Given the description of an element on the screen output the (x, y) to click on. 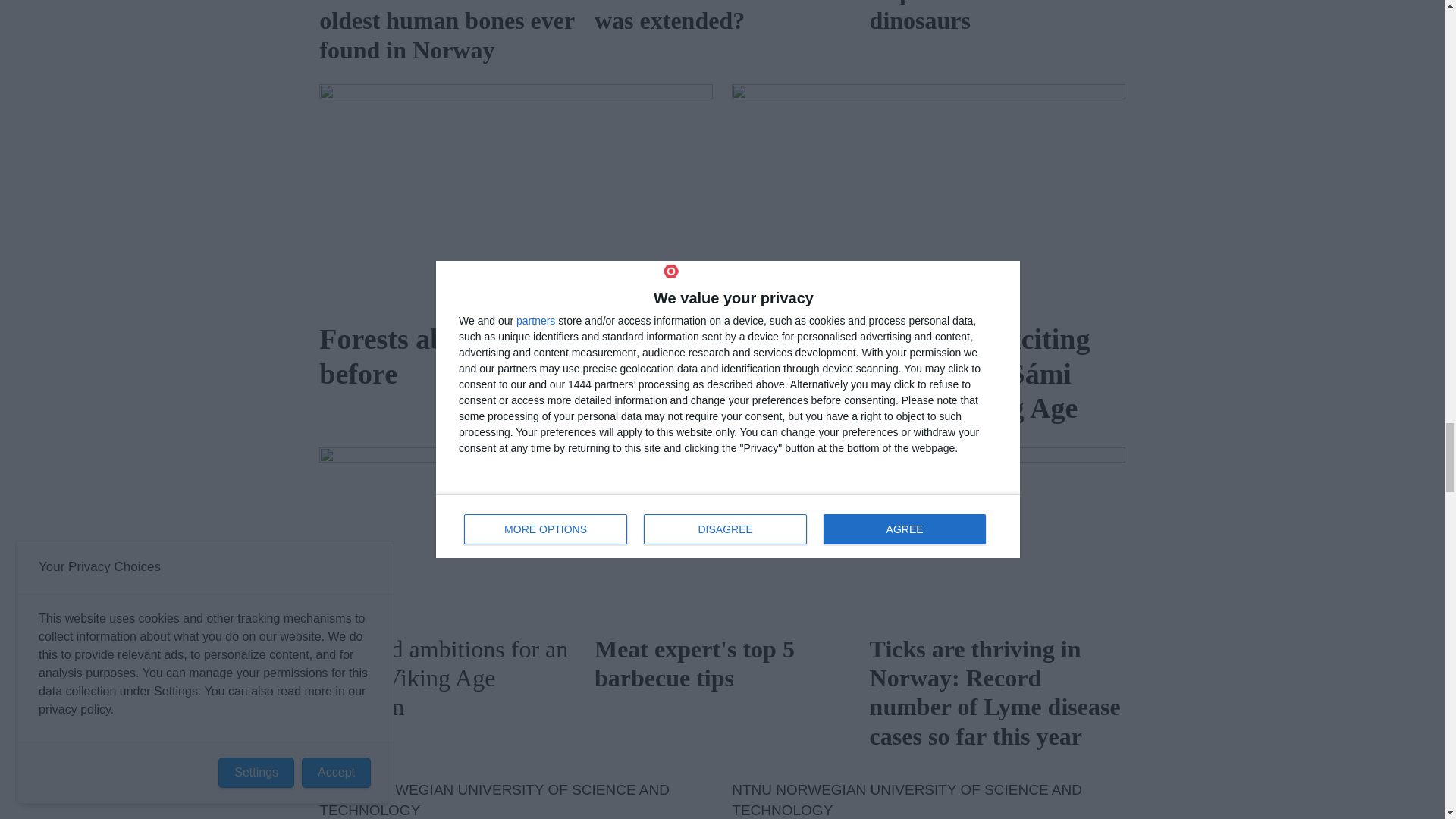
Meat expert's top 5 barbecue tips (722, 534)
Forests absorb less CO2 than before (514, 196)
We need ambitions for an iconic Viking Age Museum (446, 534)
